Given the description of an element on the screen output the (x, y) to click on. 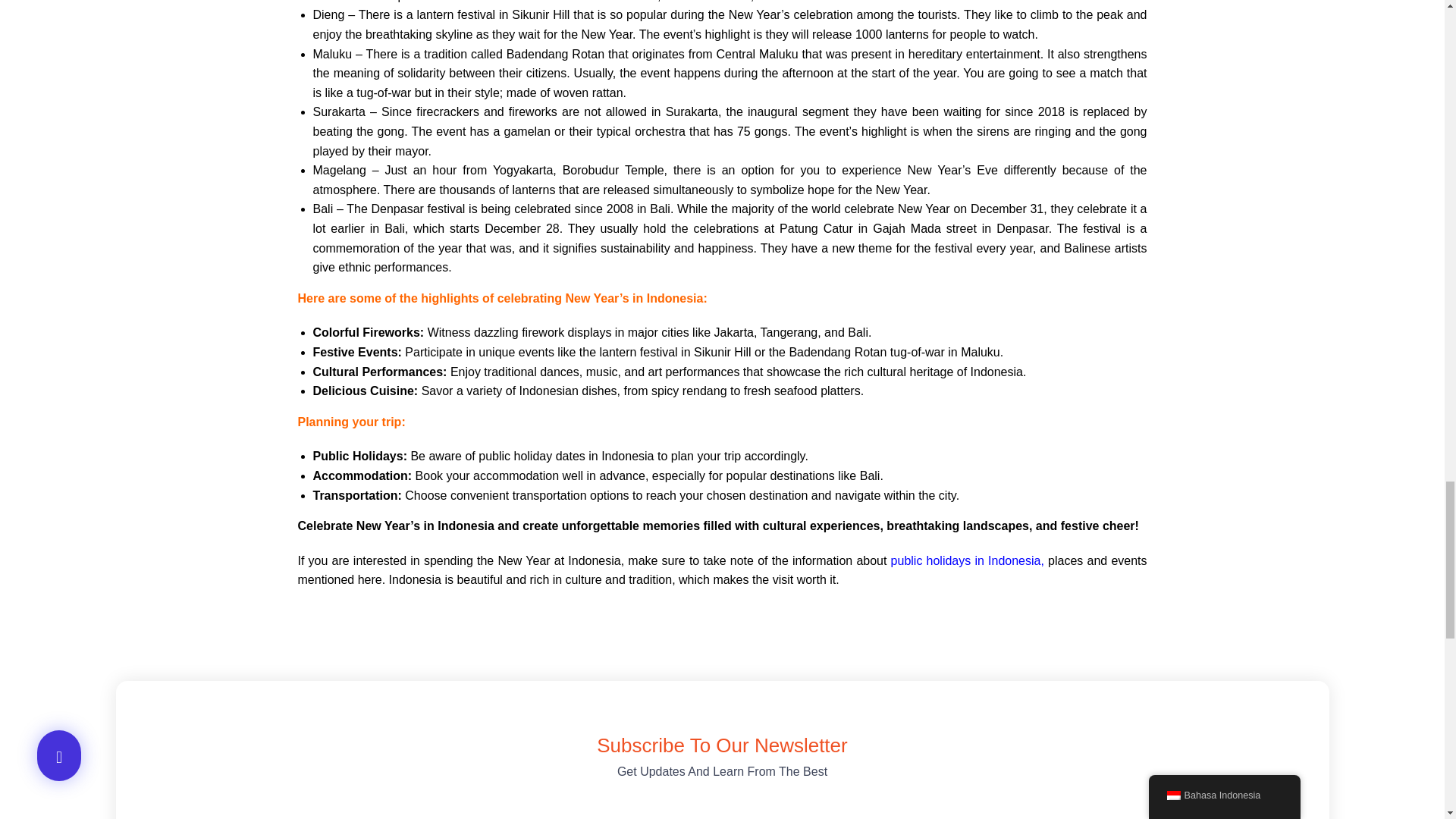
Indonesia Public Holidays (966, 560)
public holidays in Indonesia (966, 560)
